Given the description of an element on the screen output the (x, y) to click on. 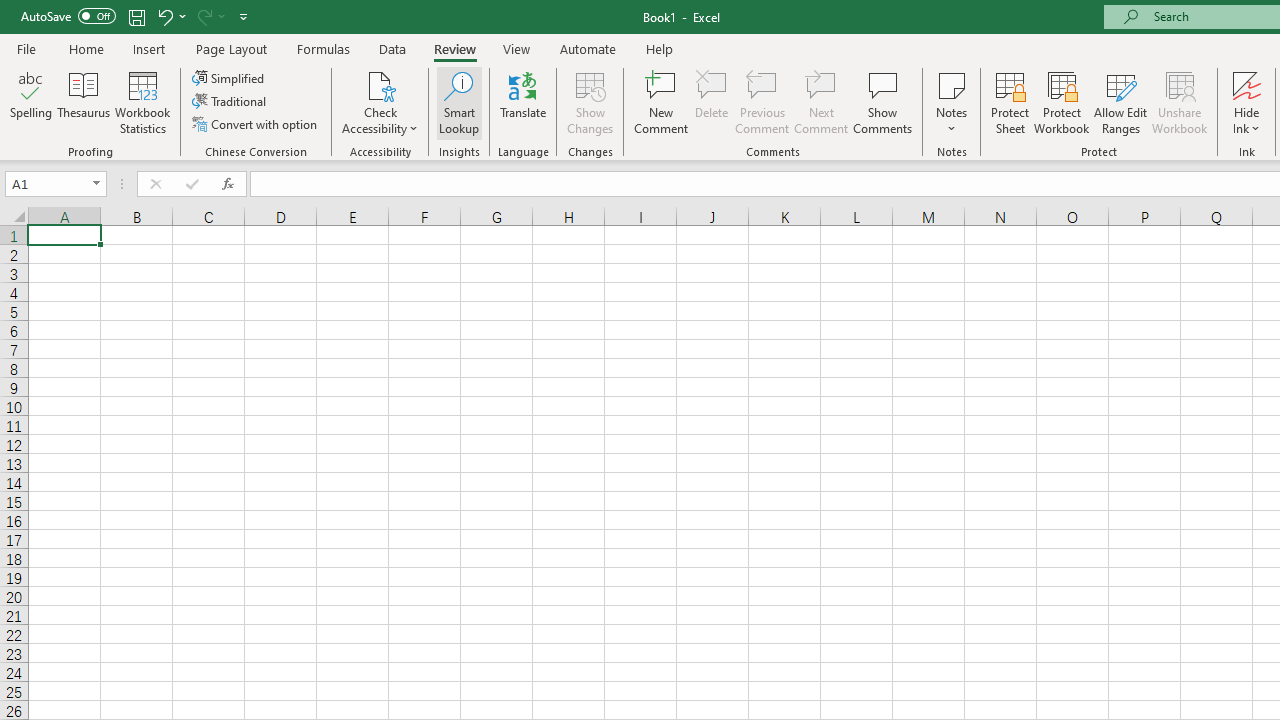
Smart Lookup (459, 102)
